Given the description of an element on the screen output the (x, y) to click on. 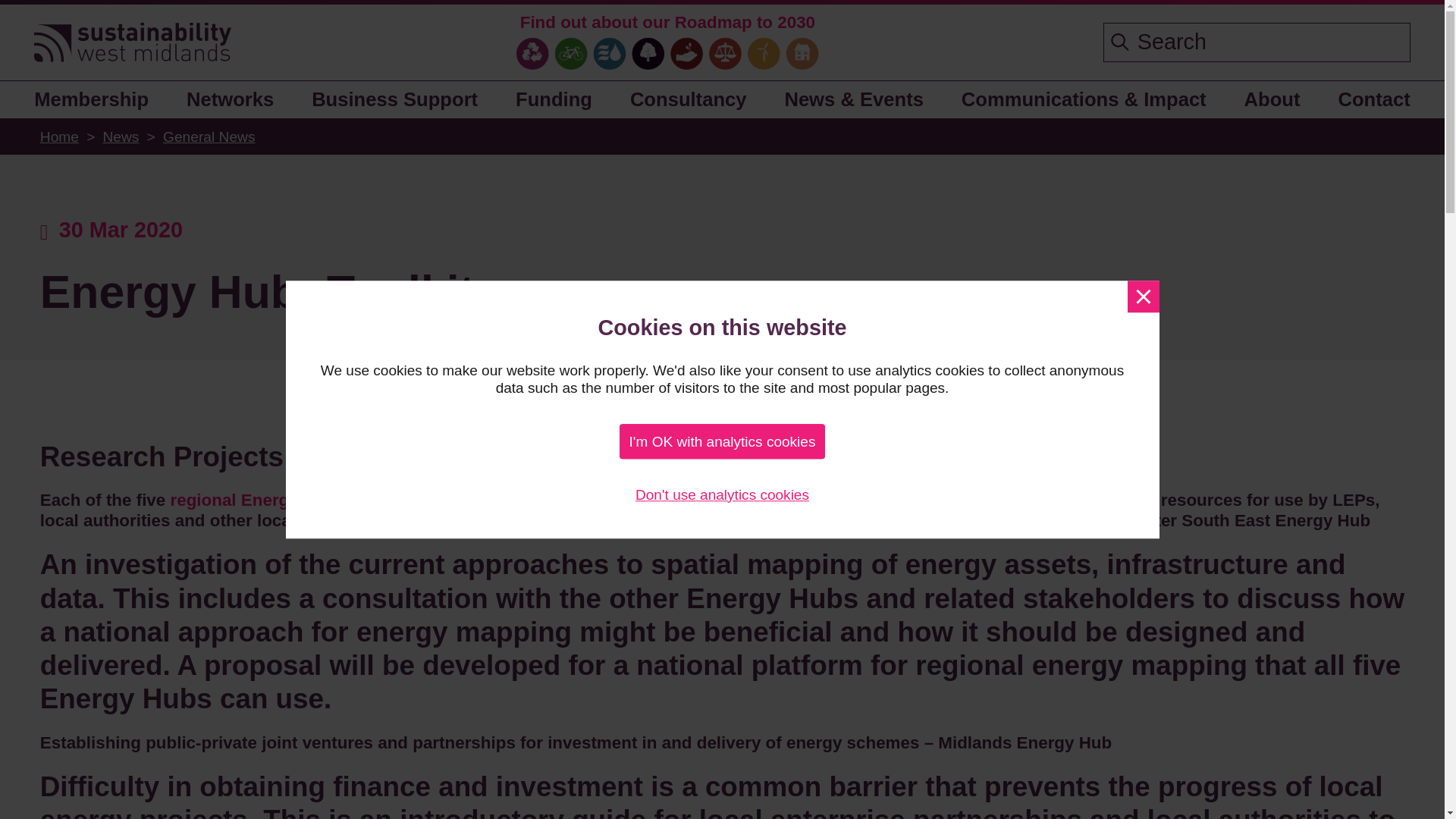
Consultancy (687, 98)
Funding (554, 98)
Go to the Sustainability West Midlands home page (132, 43)
Membership (96, 98)
Networks (230, 98)
I'm OK with analytics cookies (722, 441)
Dismiss message (1142, 296)
Business Support (394, 98)
Don't use analytics cookies (721, 494)
About (1272, 98)
